Given the description of an element on the screen output the (x, y) to click on. 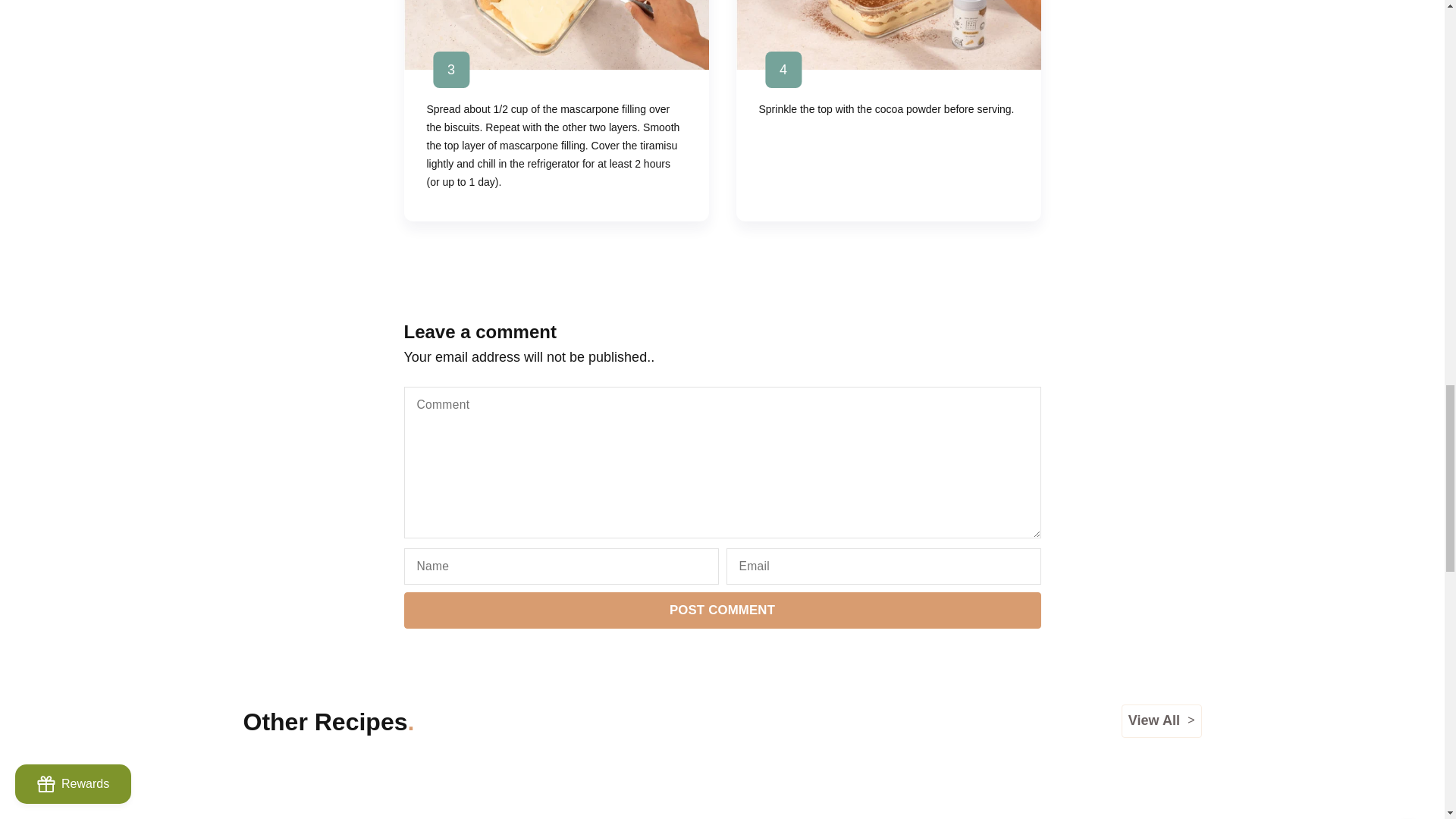
View All (1161, 720)
Post comment (722, 610)
Post comment (722, 610)
